Given the description of an element on the screen output the (x, y) to click on. 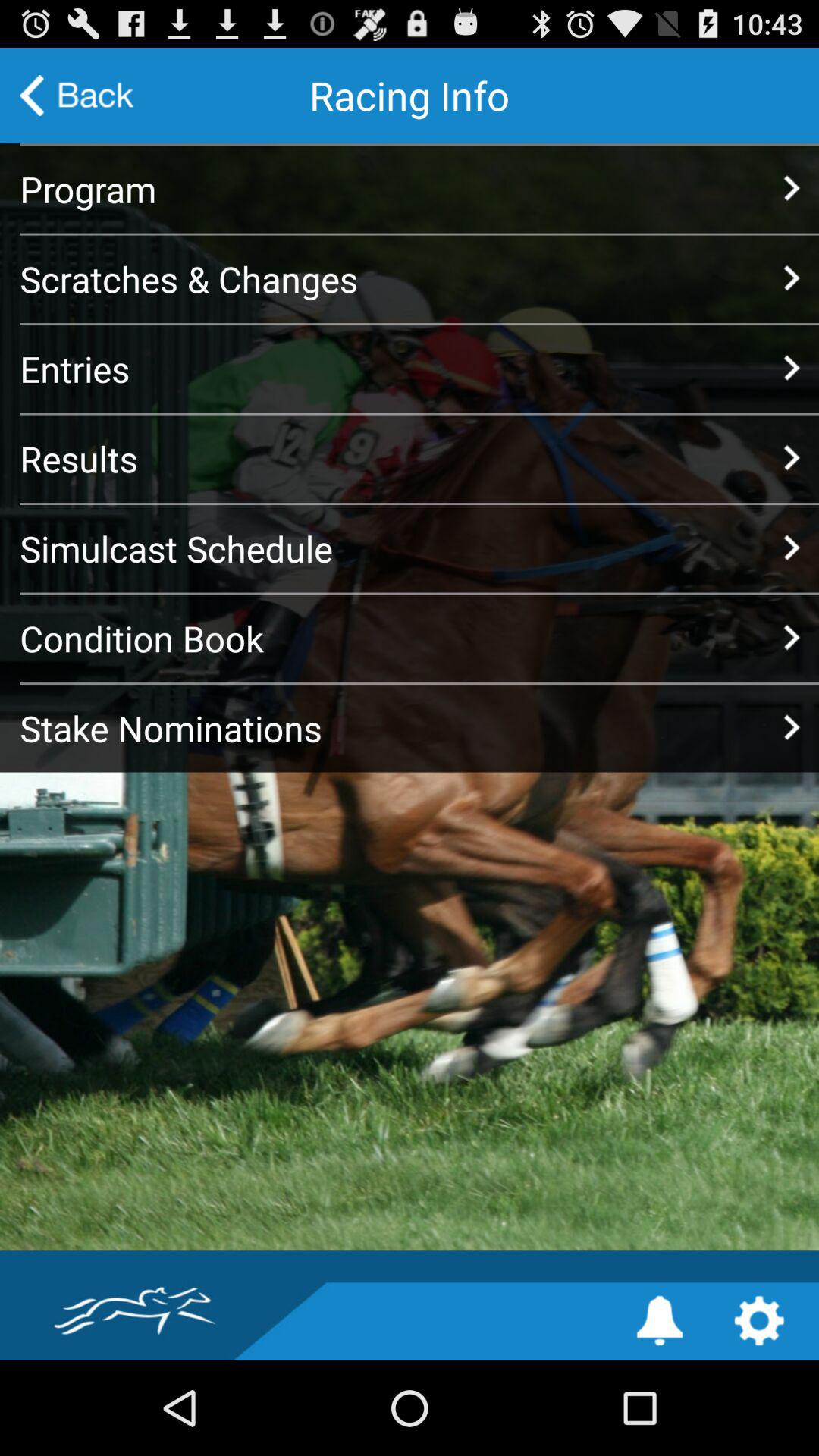
go back (76, 95)
